Given the description of an element on the screen output the (x, y) to click on. 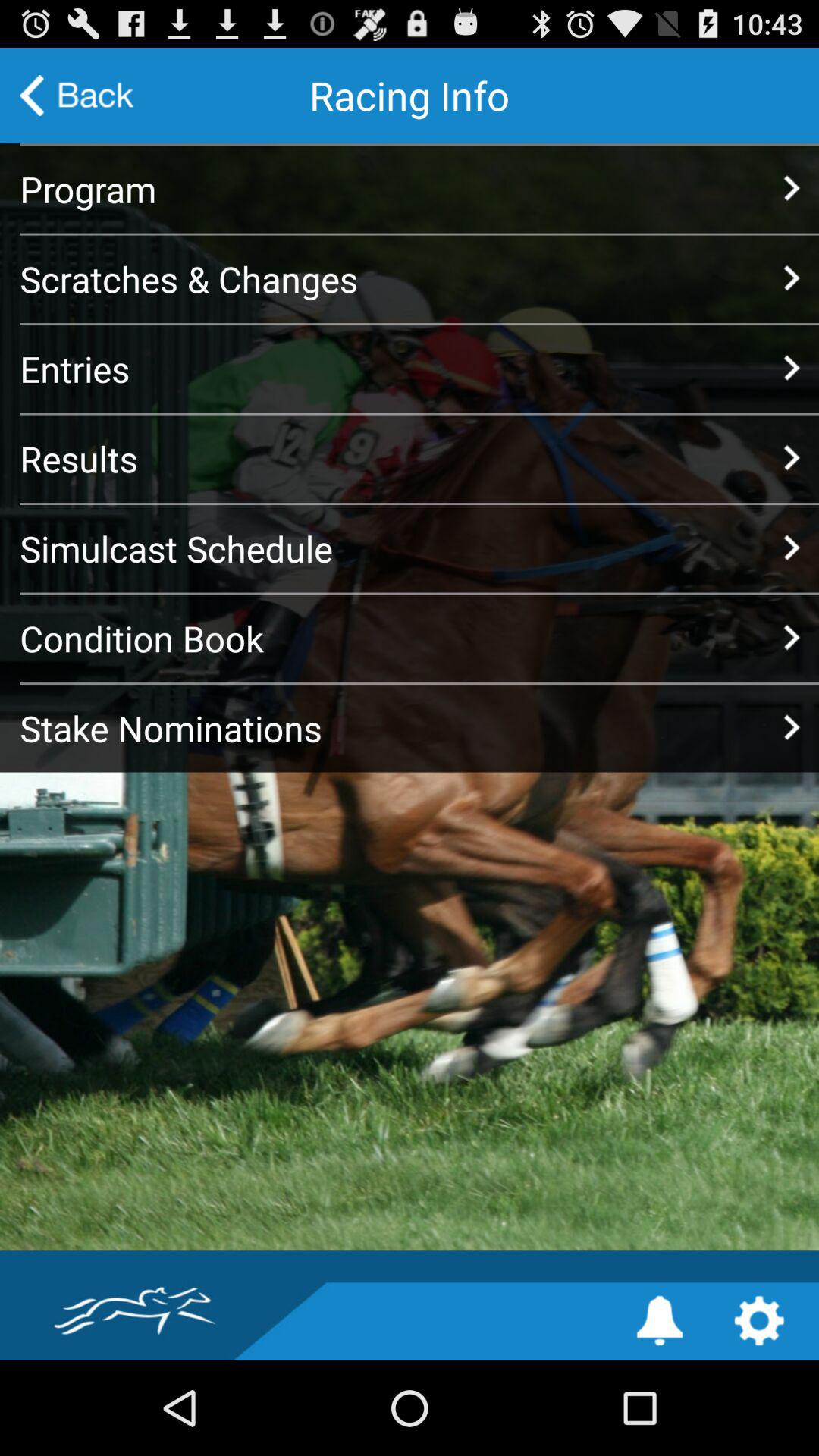
go back (76, 95)
